Given the description of an element on the screen output the (x, y) to click on. 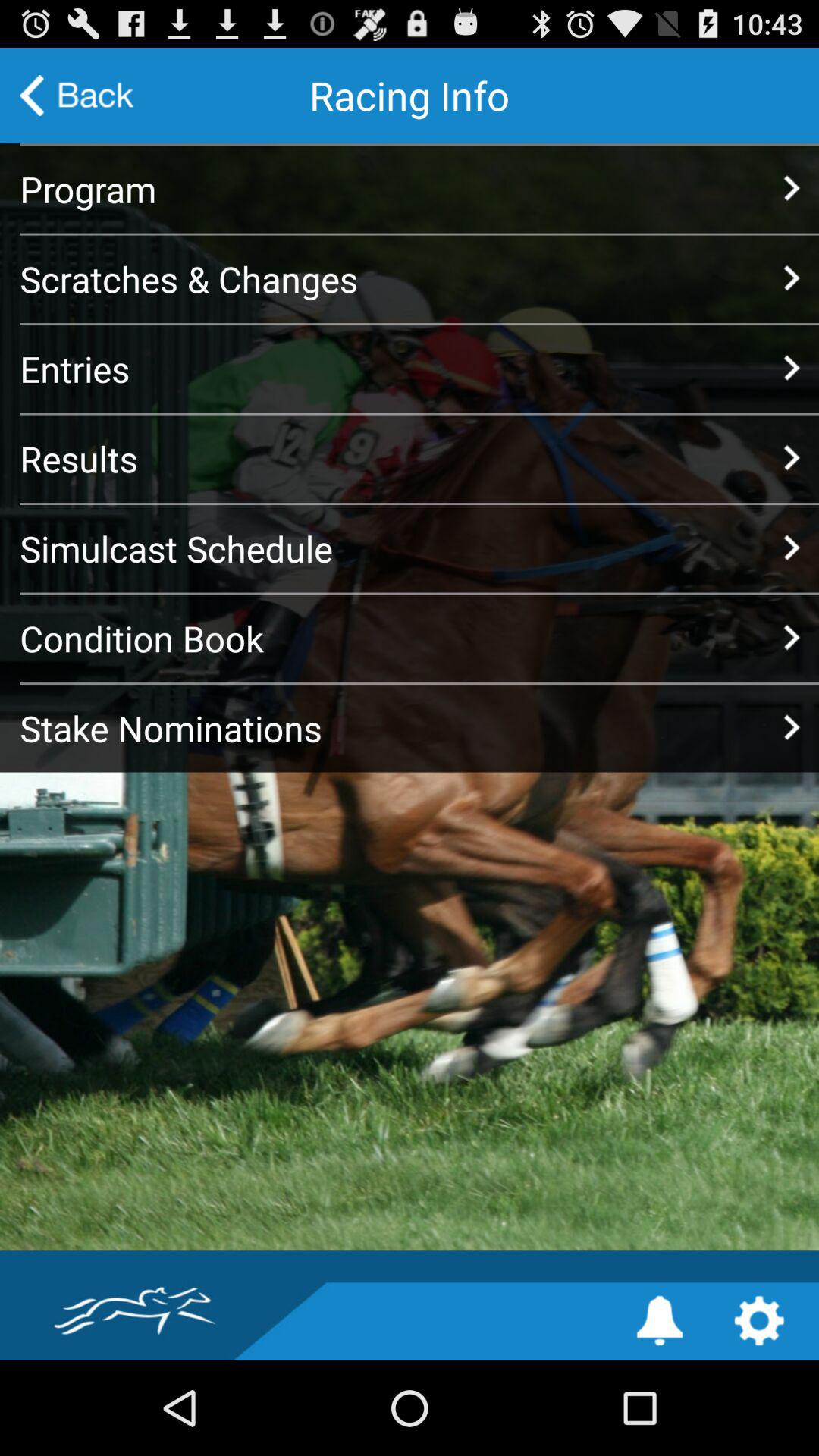
go back (76, 95)
